Given the description of an element on the screen output the (x, y) to click on. 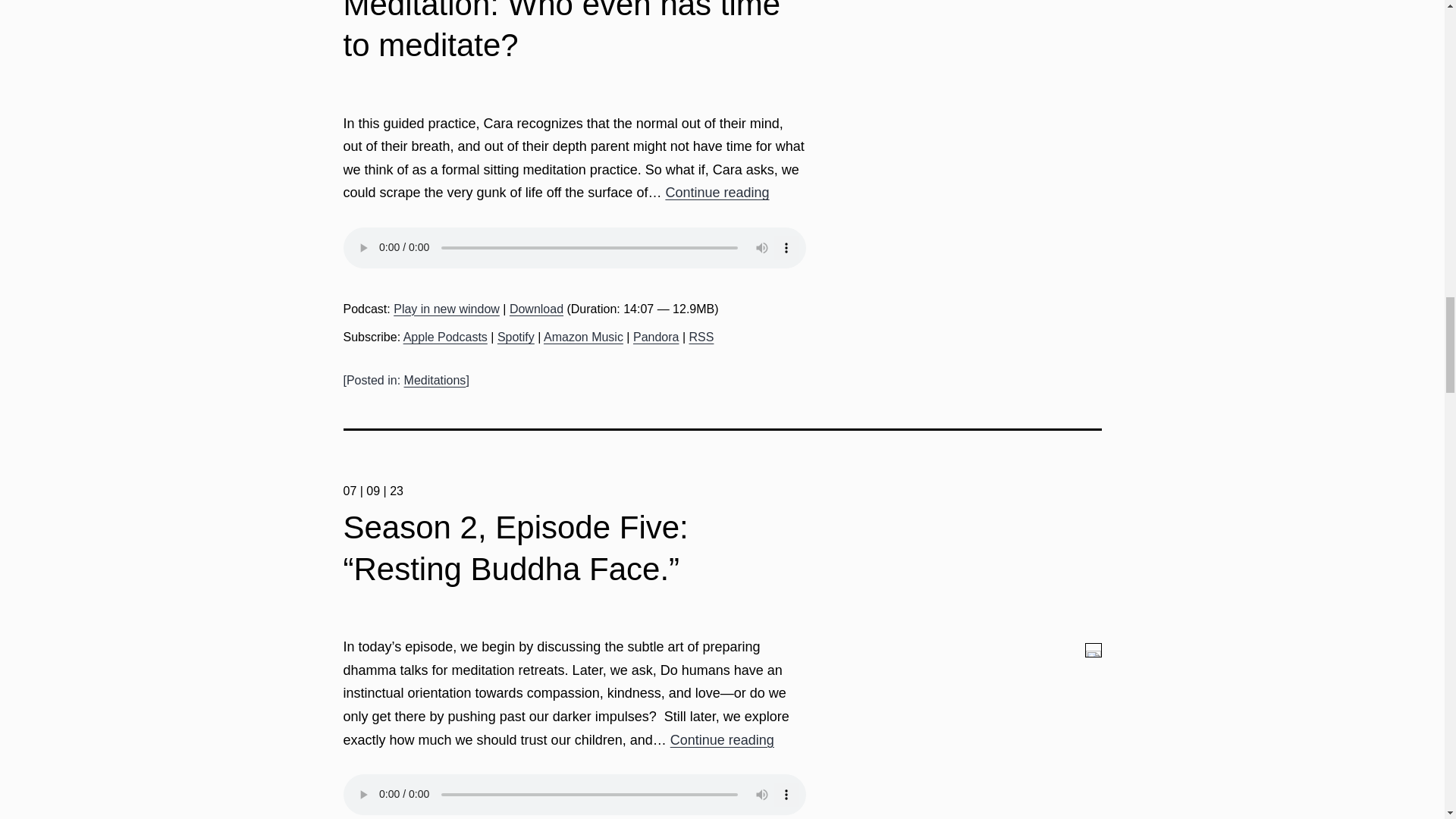
Meditation: Who even has time to meditate? (561, 31)
